Given the description of an element on the screen output the (x, y) to click on. 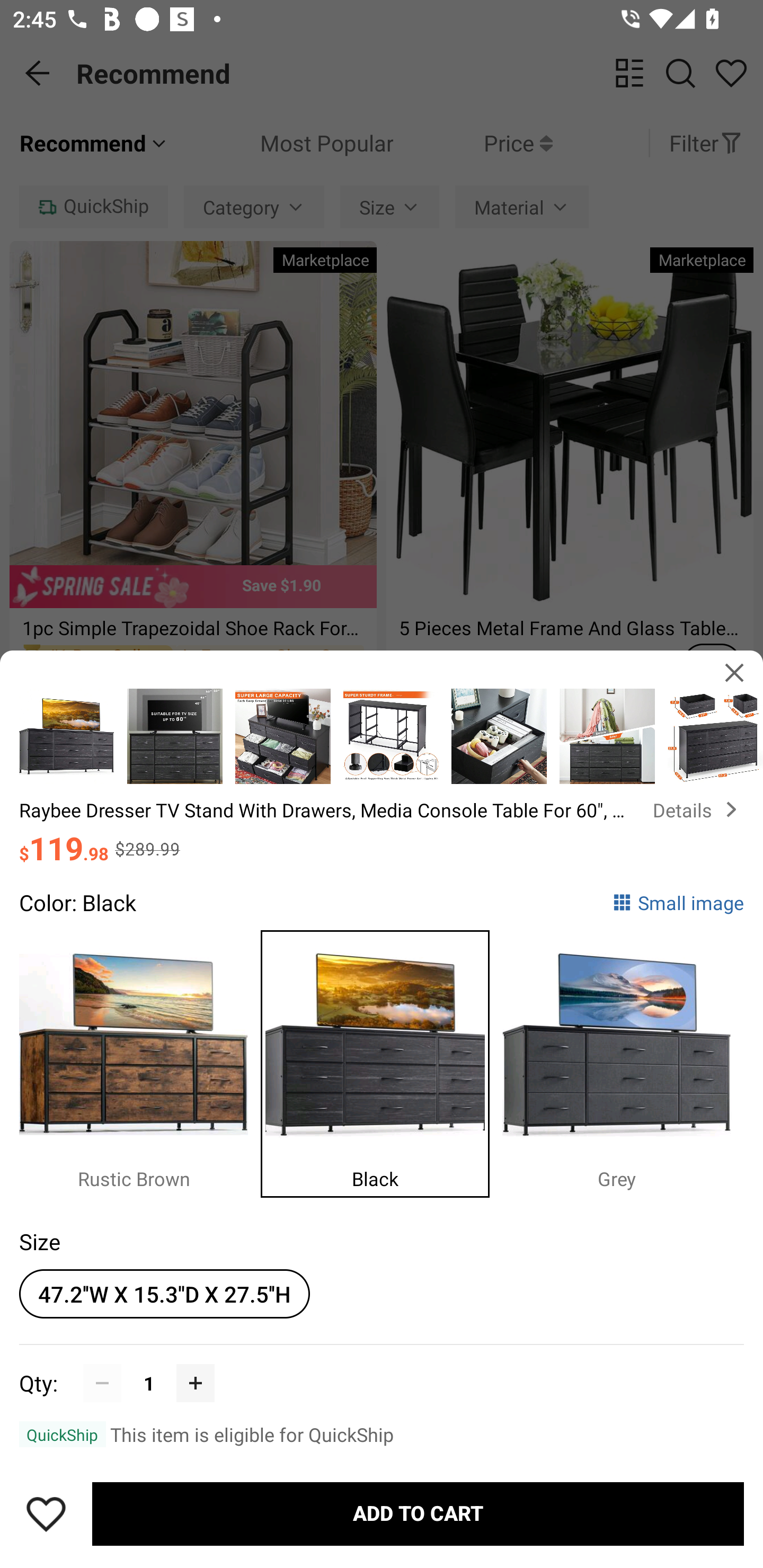
Details (698, 809)
Color: Black (77, 902)
Small image (677, 902)
Rustic Brown (139, 1059)
Black (381, 1059)
Grey (622, 1059)
Size (39, 1240)
ADD TO CART (417, 1513)
Save (46, 1513)
